Given the description of an element on the screen output the (x, y) to click on. 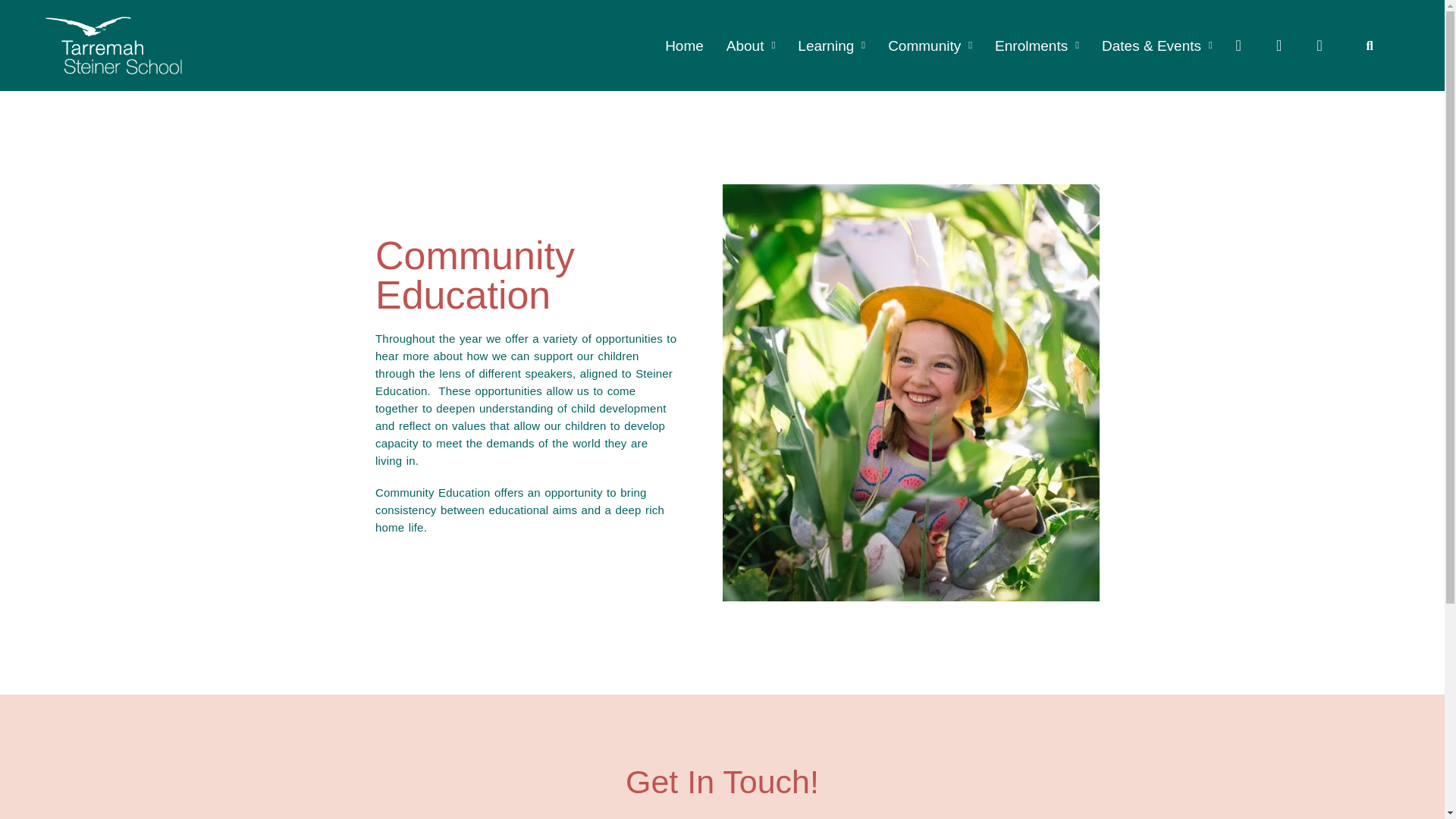
Learning (830, 44)
About (751, 44)
Community (930, 44)
Home (684, 44)
Enrolments (1036, 44)
